Given the description of an element on the screen output the (x, y) to click on. 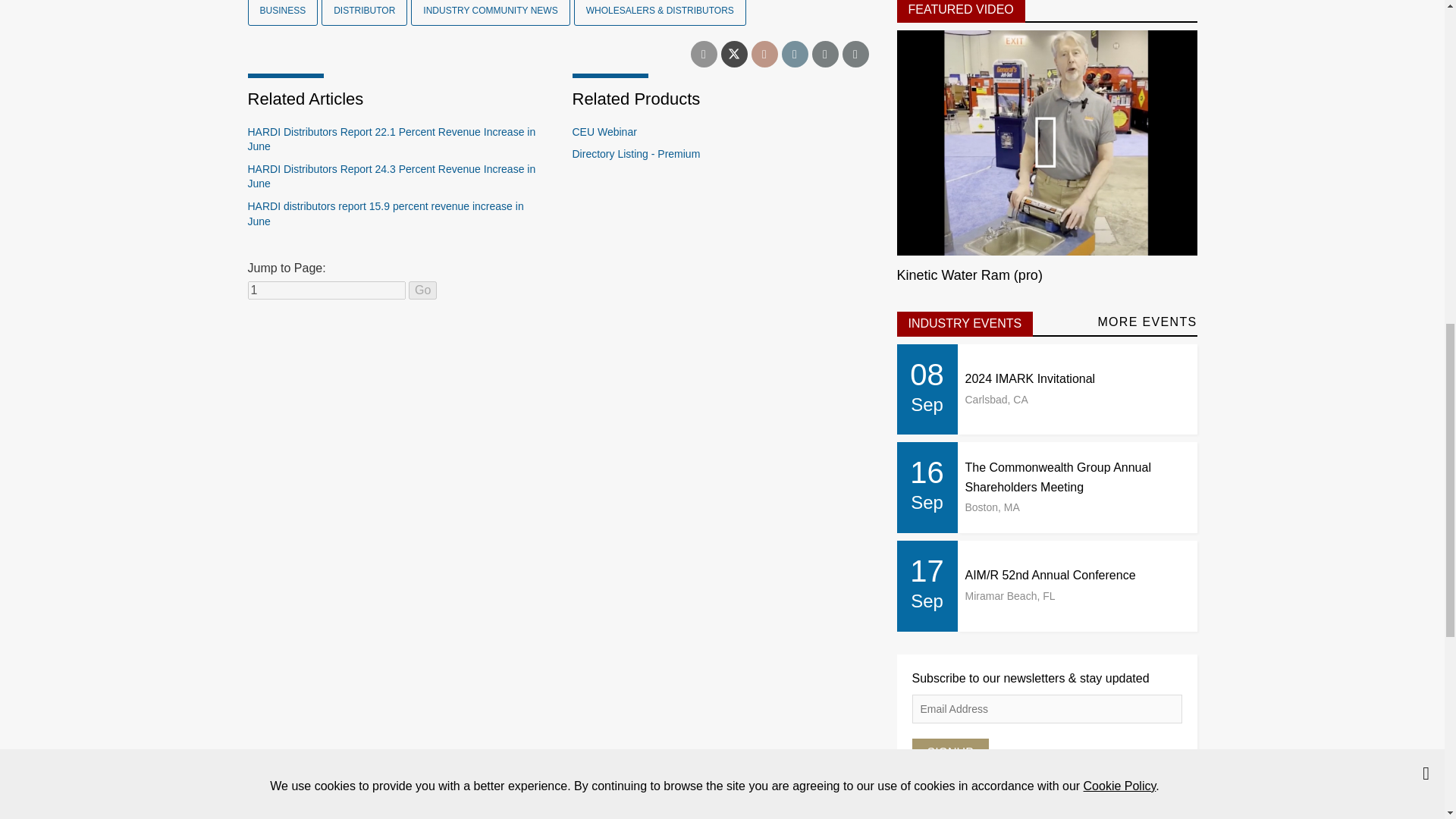
Go (422, 290)
1 (325, 290)
SIGNUP (949, 752)
